Given the description of an element on the screen output the (x, y) to click on. 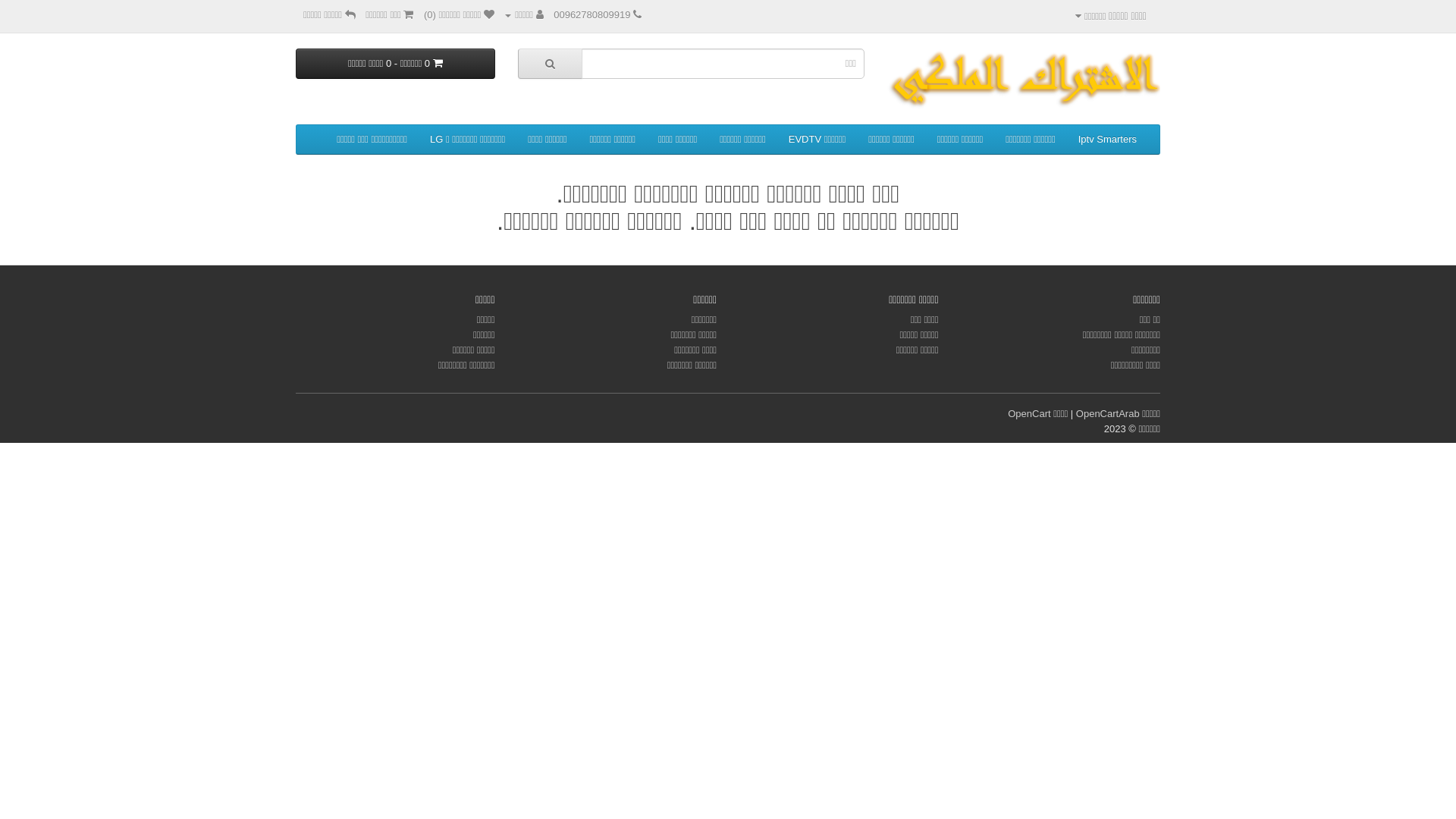
Iptv Smarters Element type: text (1107, 139)
OpenCartArab Element type: text (1107, 413)
OpenCart Element type: text (1028, 413)
